Given the description of an element on the screen output the (x, y) to click on. 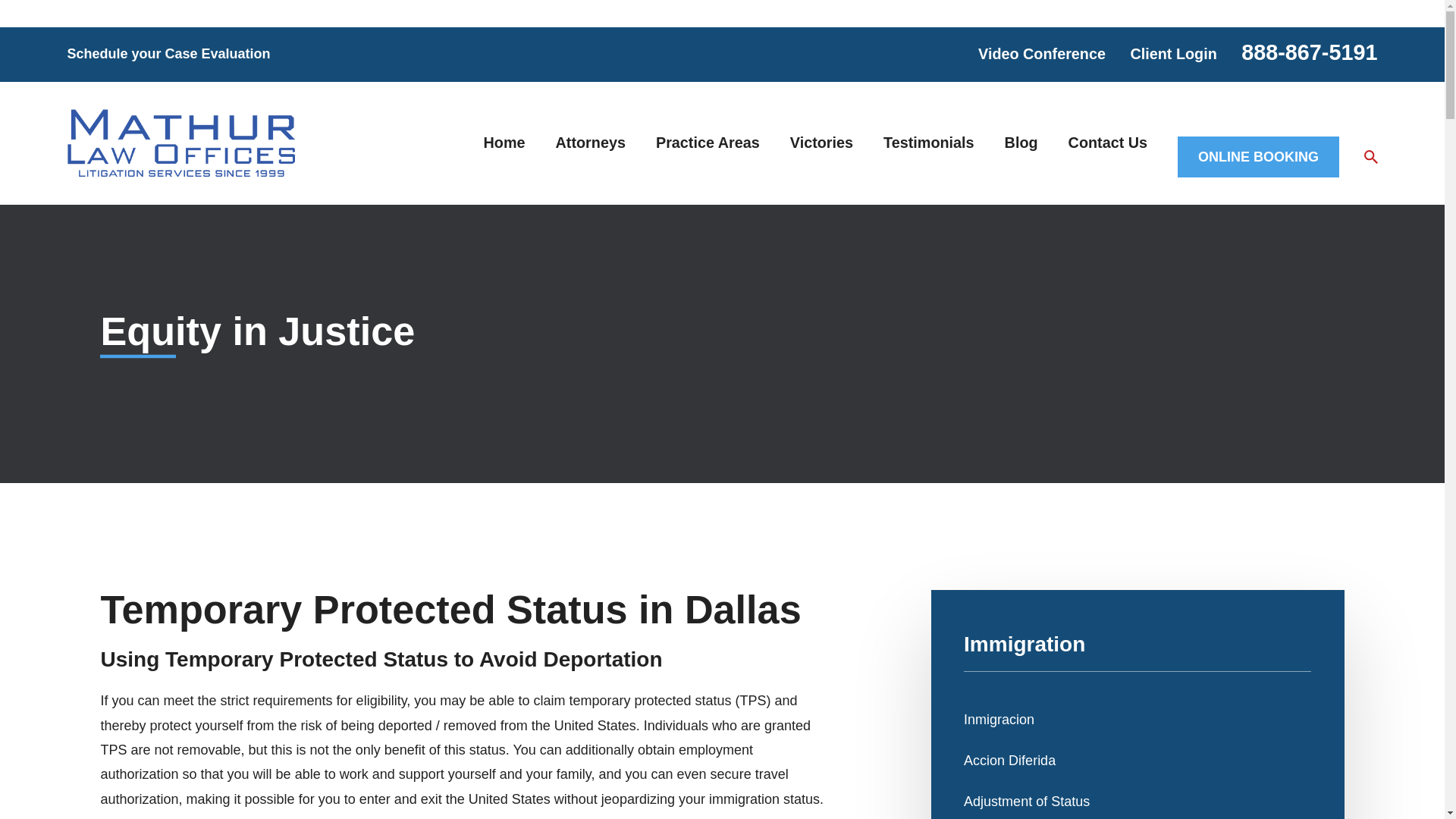
888-867-5191 (1309, 52)
Attorneys (591, 143)
Home (504, 143)
Home (180, 142)
Blog (1021, 143)
Victories (821, 143)
Practice Areas (708, 143)
Video Conference (1041, 53)
Testimonials (928, 143)
Client Login (1172, 53)
